Given the description of an element on the screen output the (x, y) to click on. 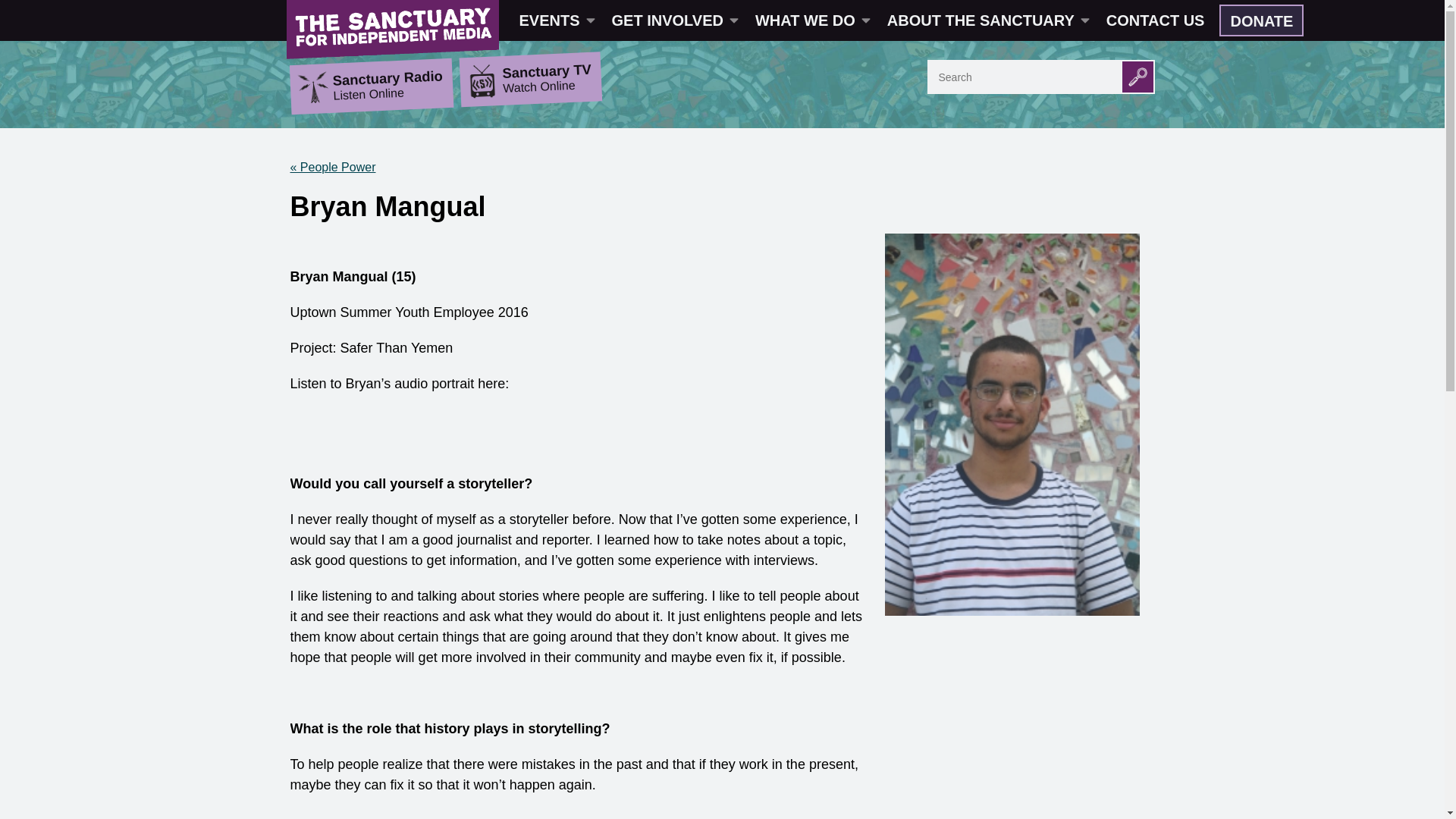
ABOUT THE SANCTUARY (987, 20)
GET INVOLVED (673, 20)
EVENTS (555, 20)
WHAT WE DO (811, 20)
